Given the description of an element on the screen output the (x, y) to click on. 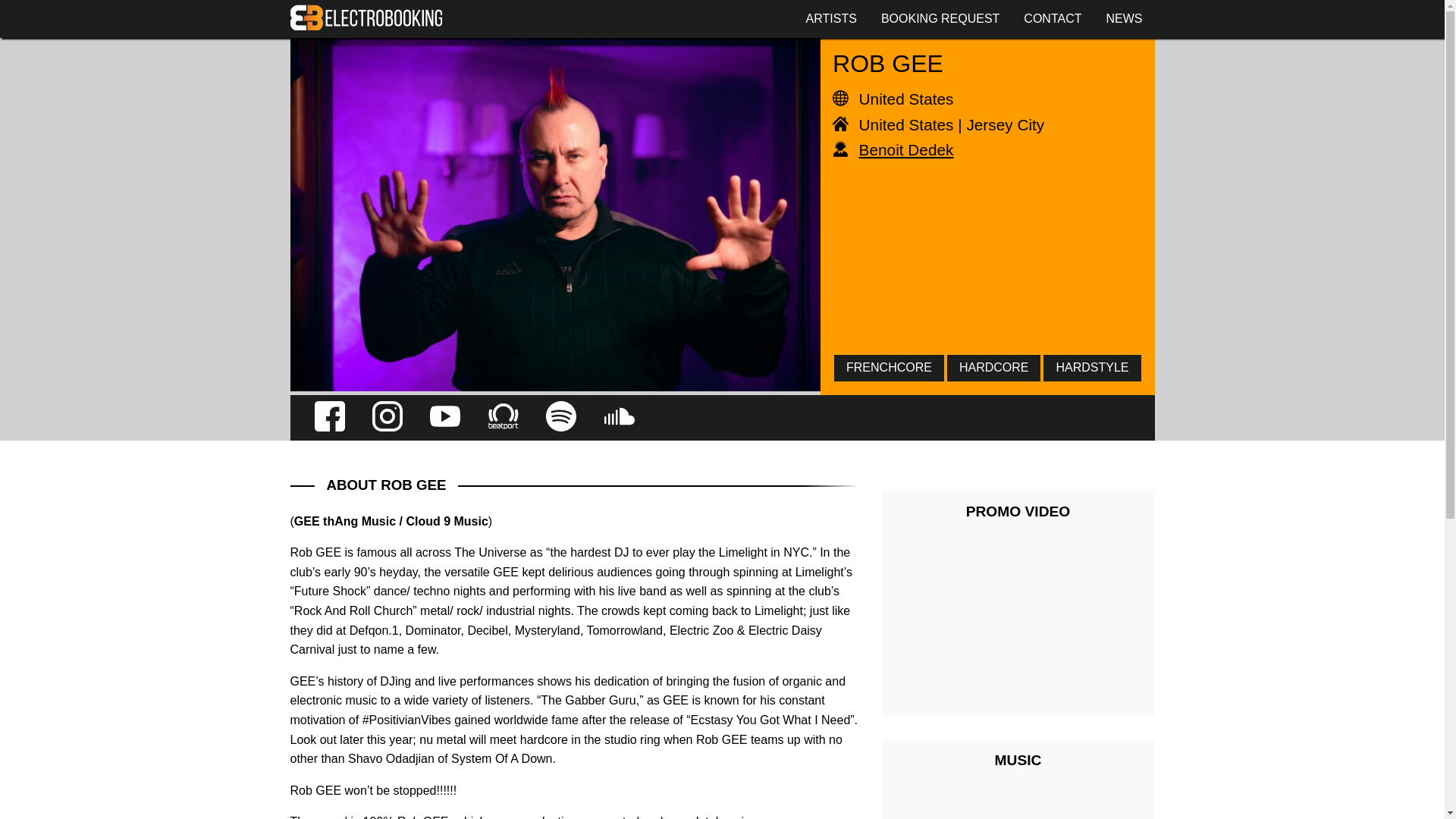
HARDSTYLE (1091, 367)
CONTACT (1052, 18)
ARTISTS (831, 18)
Facebook (328, 417)
Spotify (561, 417)
Rob GEE - My Voice My Words Mixtape by Rob GEE (1017, 806)
BOOKING REQUEST (940, 18)
FRENCHCORE (888, 367)
NEWS (1123, 18)
Instagram (387, 417)
